Given the description of an element on the screen output the (x, y) to click on. 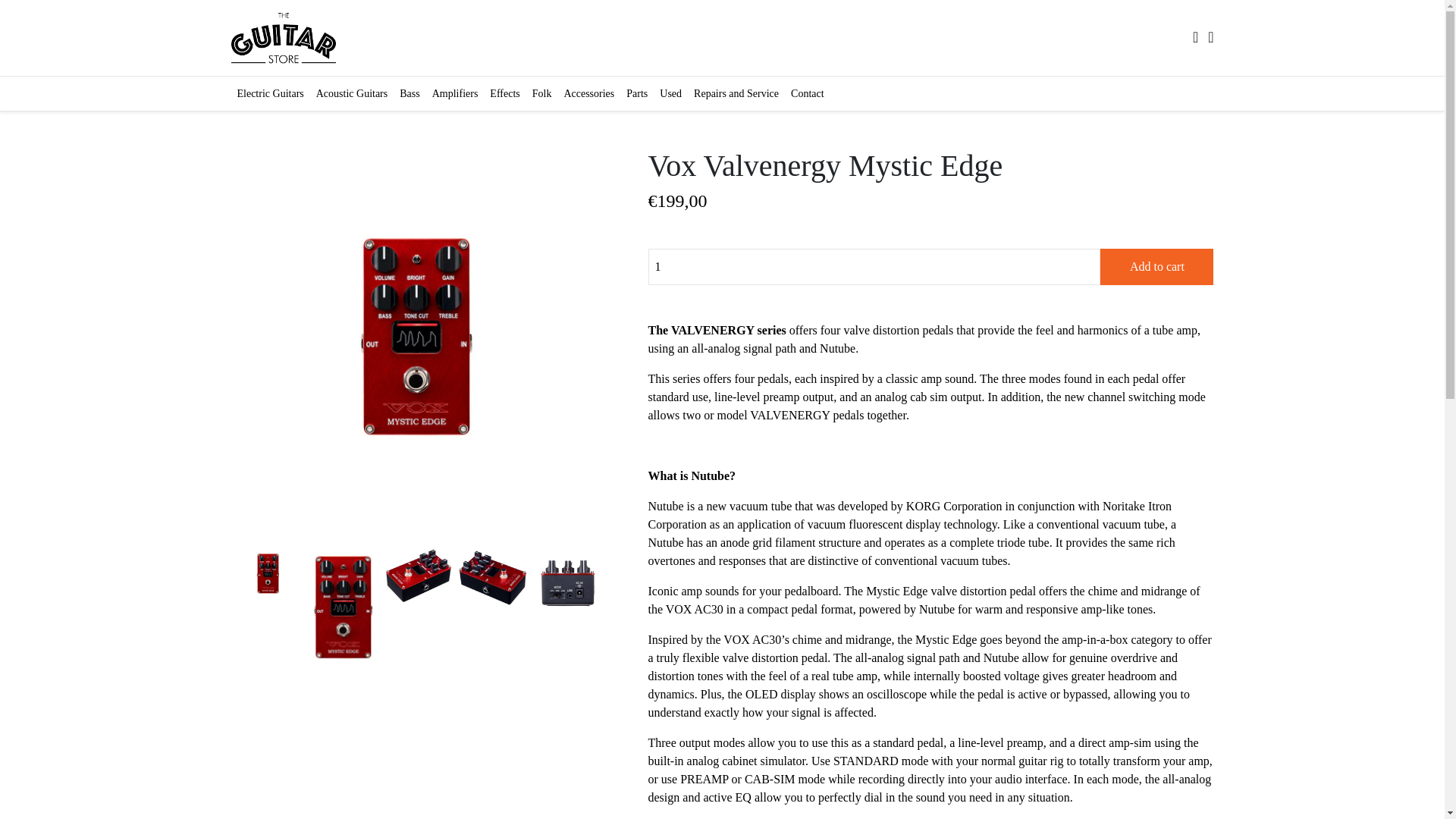
Amplifiers (455, 93)
Effects (504, 93)
Folk (541, 93)
1 (873, 266)
Bass (409, 93)
Parts (636, 93)
Accessories (588, 93)
Electric Guitars (269, 93)
Repairs and Service (735, 93)
Used (670, 93)
Add to cart (1156, 266)
Acoustic Guitars (351, 93)
Contact (806, 93)
